Given the description of an element on the screen output the (x, y) to click on. 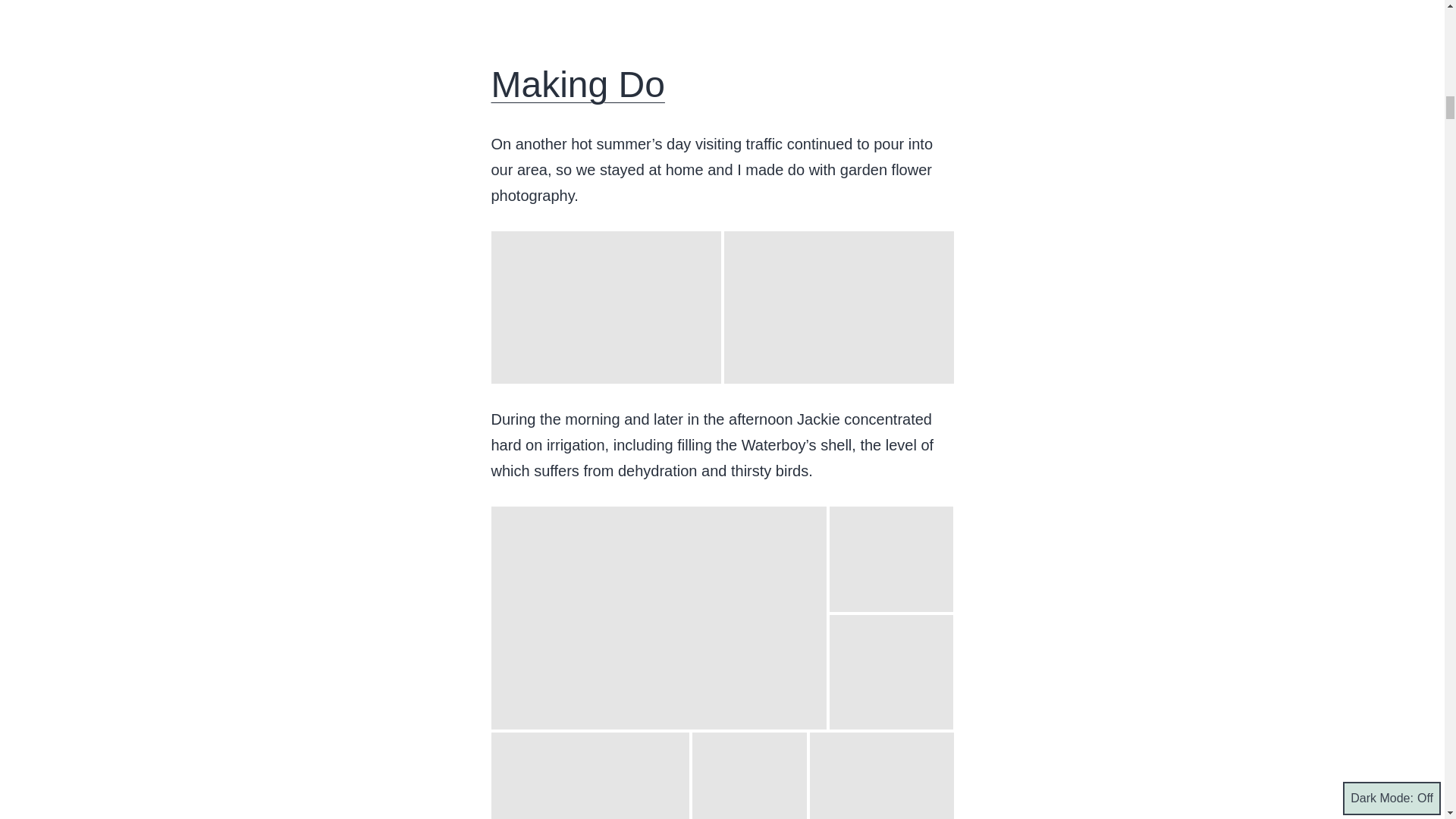
Making Do (578, 84)
